Given the description of an element on the screen output the (x, y) to click on. 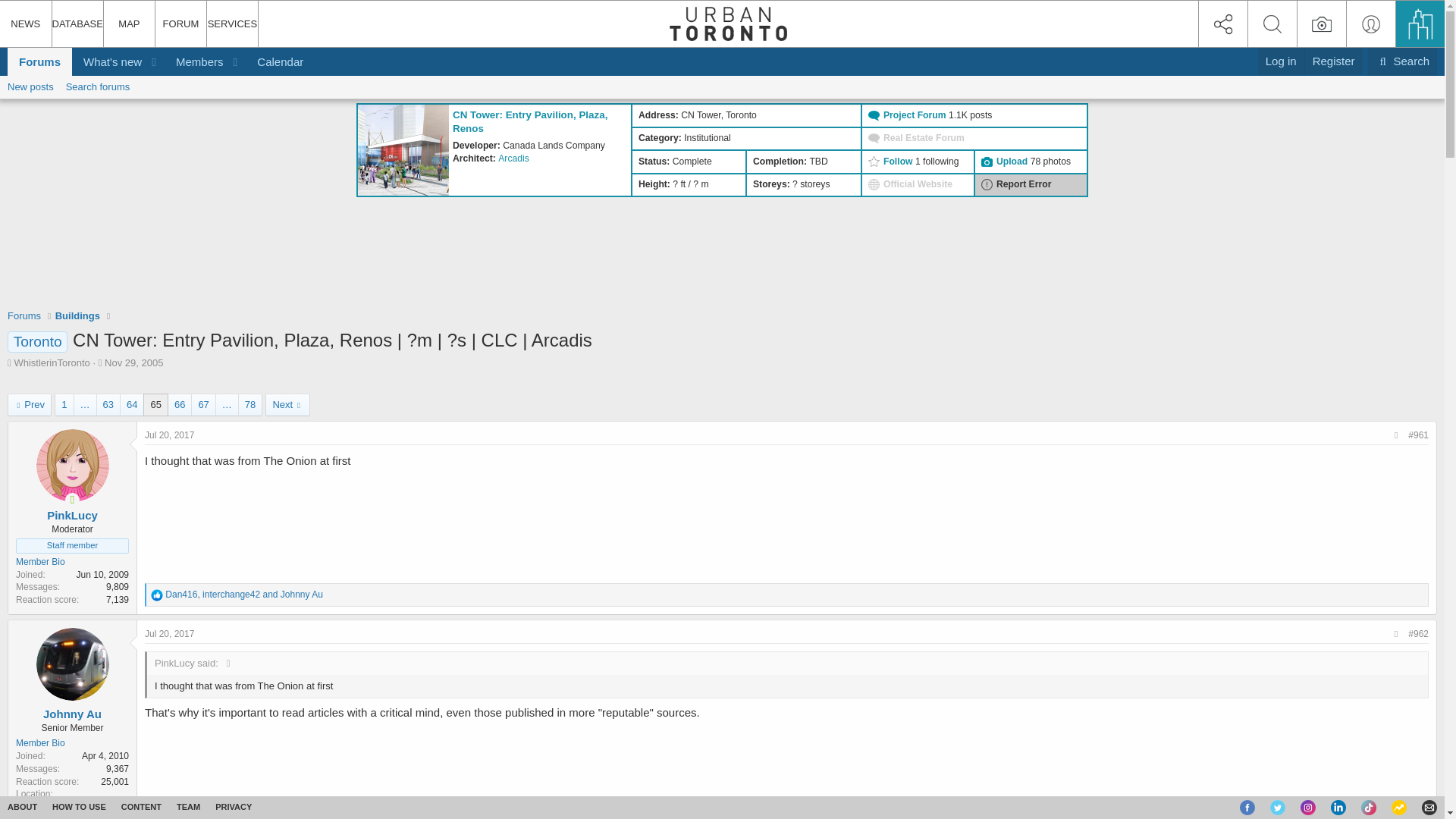
Search (1402, 61)
Nov 29, 2005 at 9:58 PM (133, 362)
Category: Institutional (745, 138)
Nov 29, 2005 (133, 362)
Arcadis (513, 158)
Search (1402, 61)
Forums (23, 315)
What's new (160, 78)
Jul 20, 2017 at 12:28 PM (106, 61)
Search forums (168, 633)
Log in (97, 87)
Prev (1280, 60)
Buildings (28, 404)
